Given the description of an element on the screen output the (x, y) to click on. 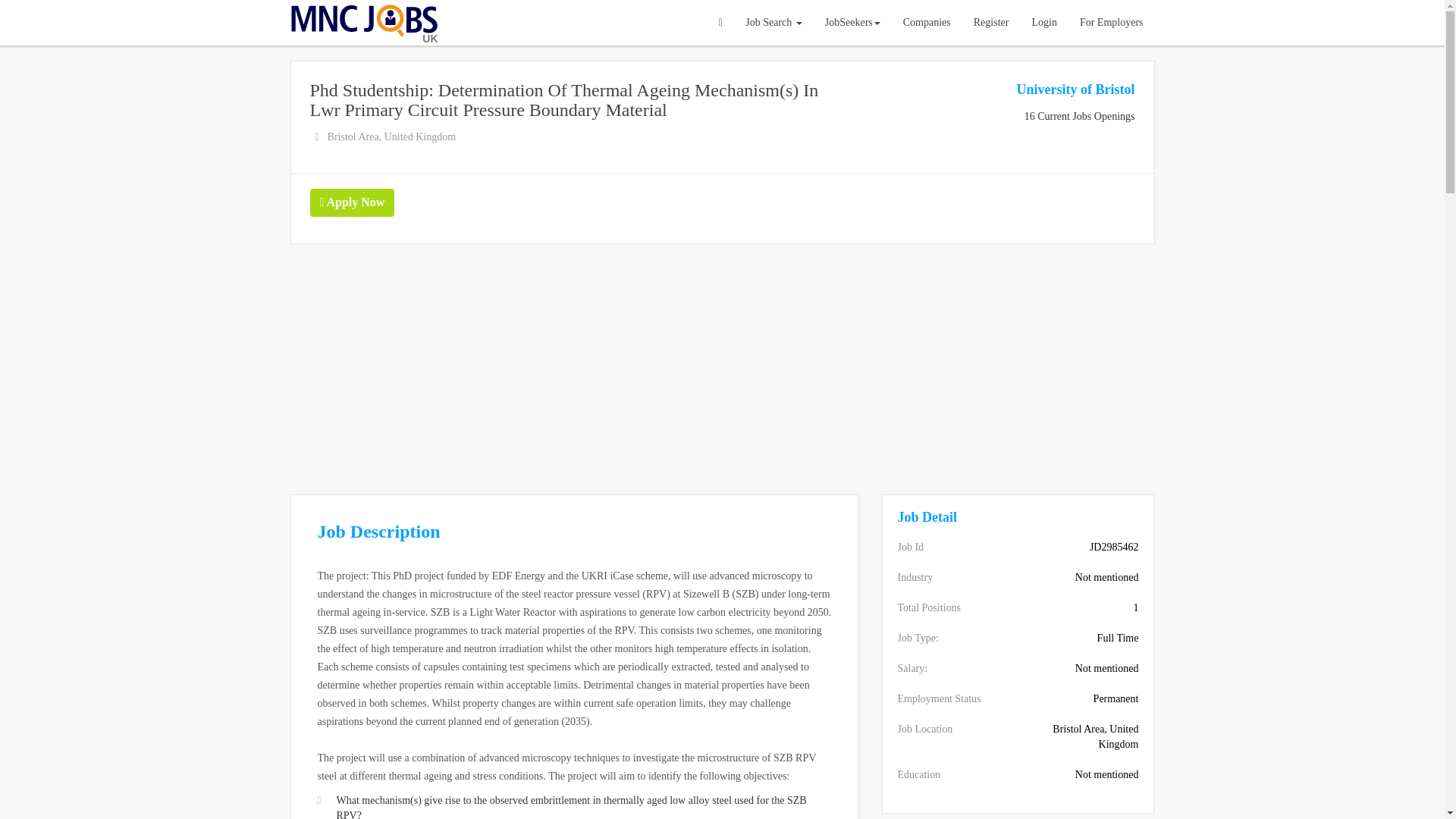
Employers Registration (1111, 22)
UK (363, 22)
MNC Jobs in United Kingdom (363, 22)
16 Current Jobs Openings (1080, 116)
Job Search (773, 22)
Companies (926, 22)
JobSeekers (852, 22)
Login (1043, 22)
Job Search (773, 22)
JobSeekers (852, 22)
